Given the description of an element on the screen output the (x, y) to click on. 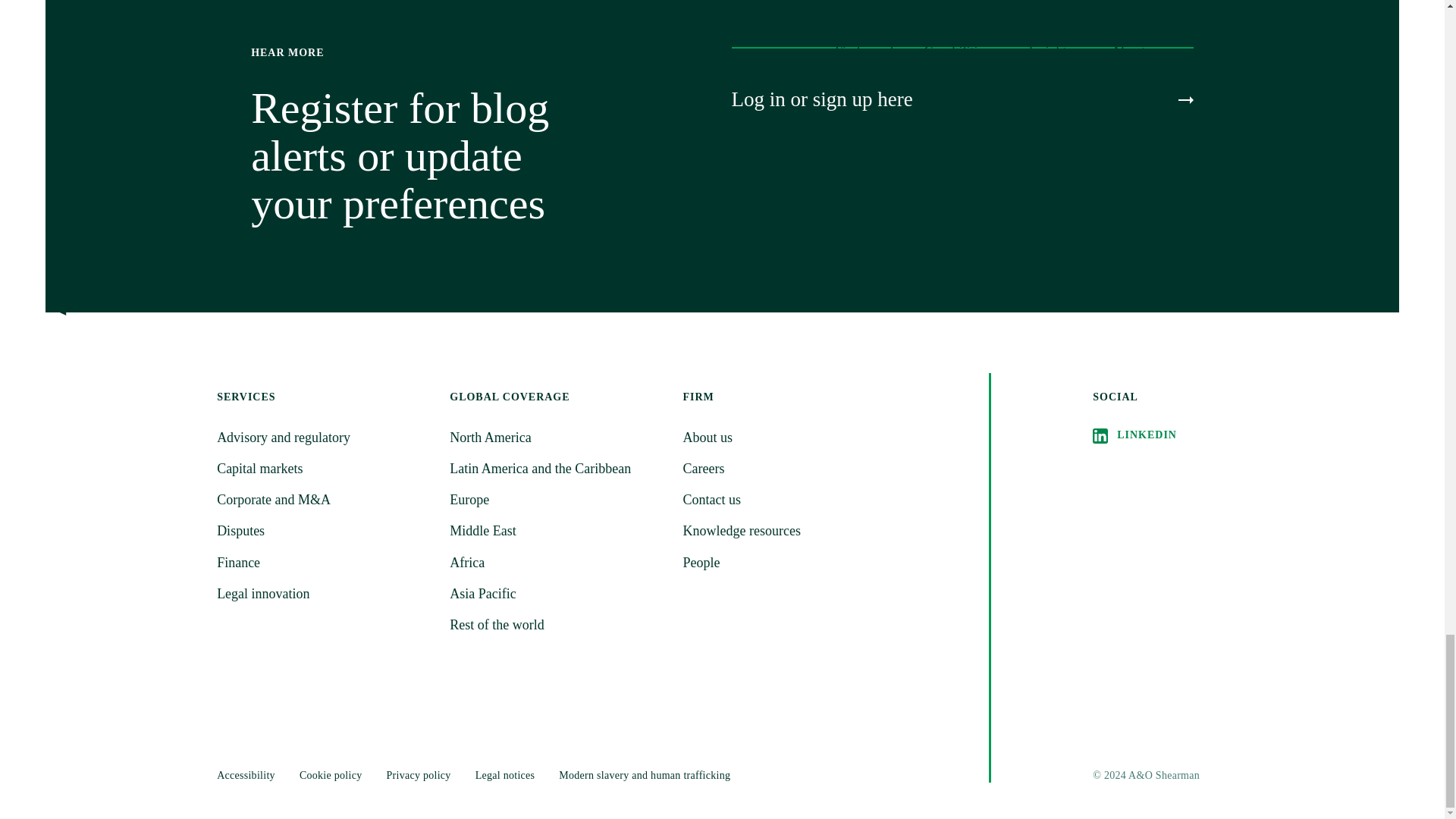
Legal innovation (323, 593)
North America (556, 437)
Log in or sign up here (961, 99)
Capital markets (323, 468)
Finance (323, 562)
Disputes (323, 530)
Advisory and regulatory (323, 437)
